Given the description of an element on the screen output the (x, y) to click on. 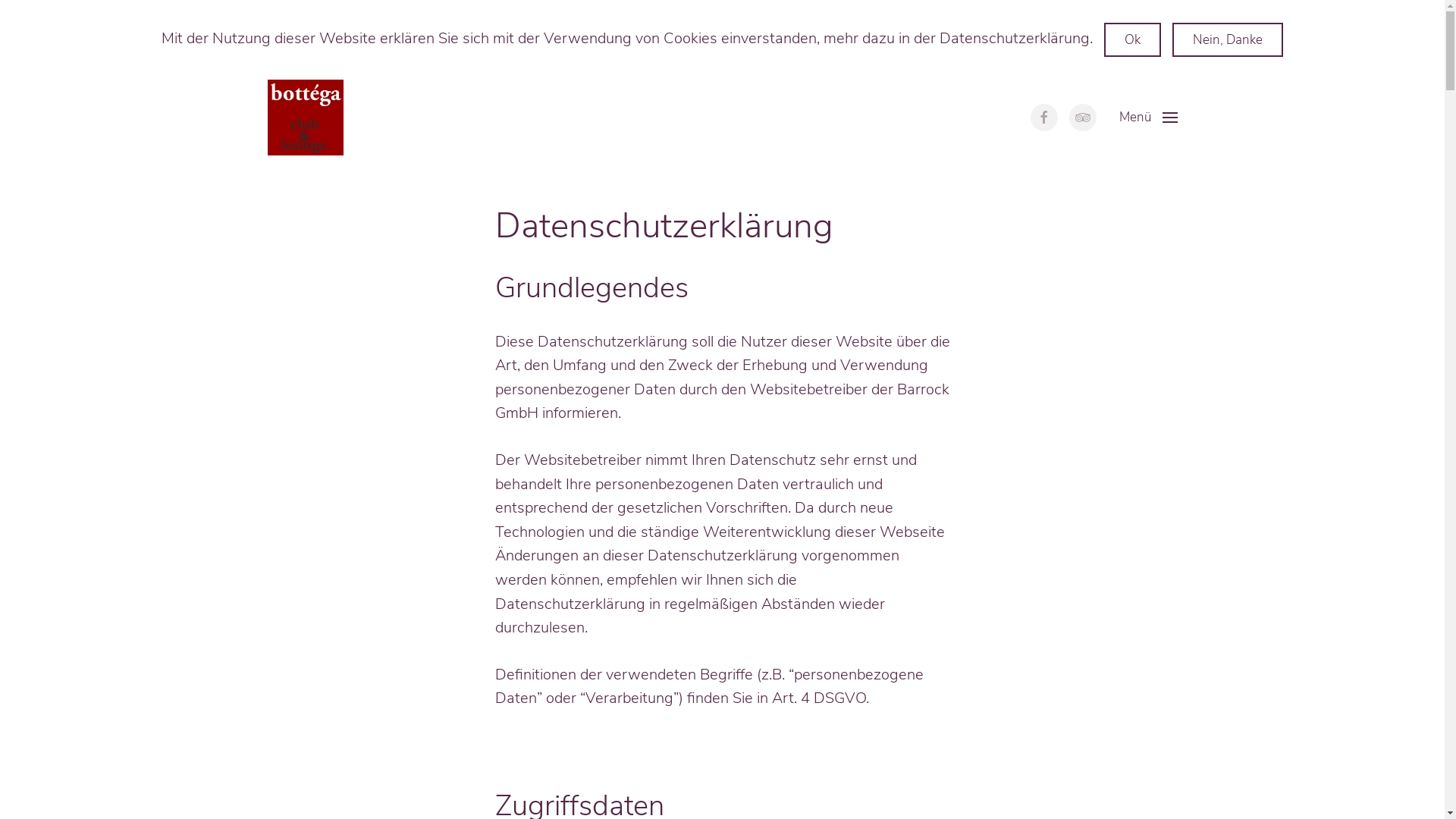
Nein, Danke Element type: text (1227, 39)
Ok Element type: text (1132, 39)
